Given the description of an element on the screen output the (x, y) to click on. 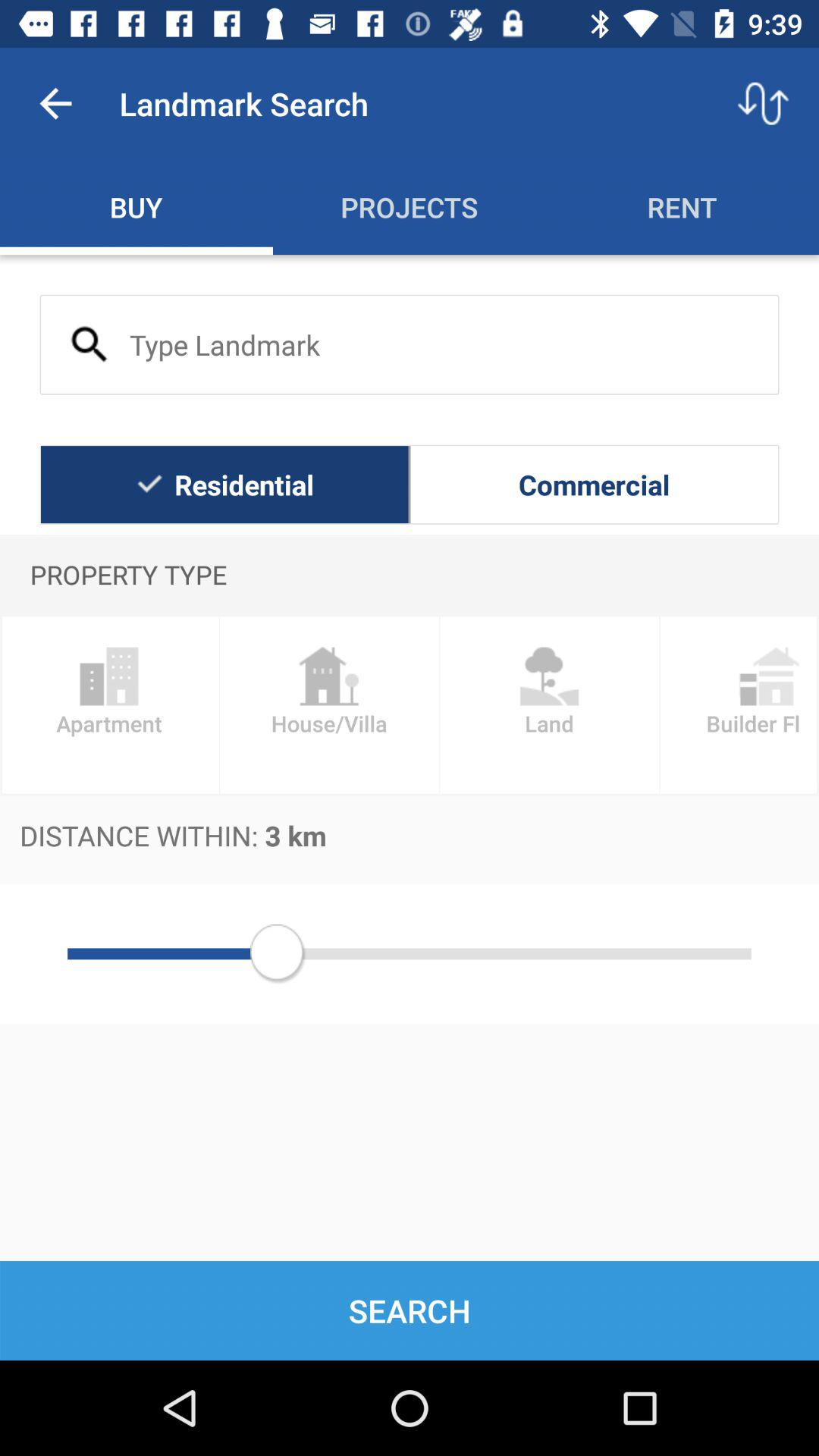
tap the item below property type (739, 704)
